Given the description of an element on the screen output the (x, y) to click on. 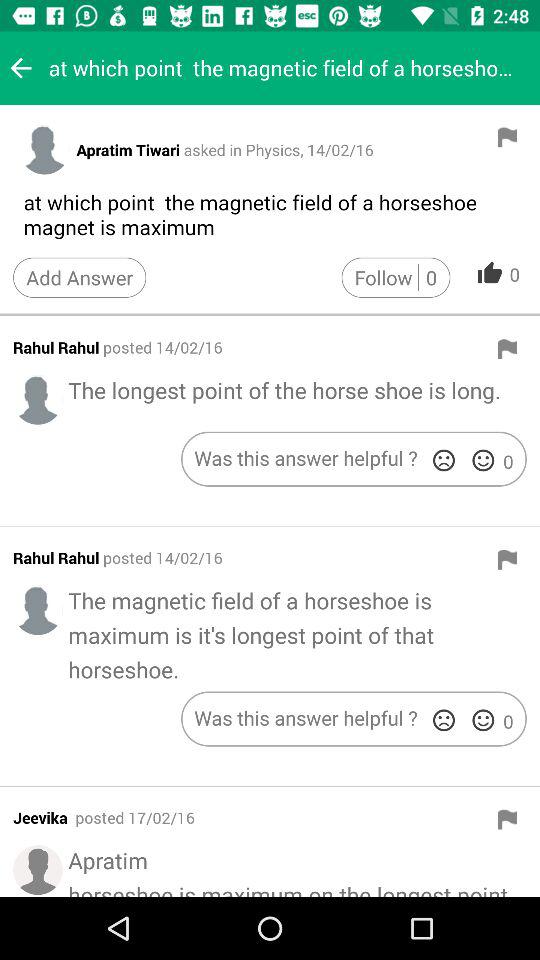
leave positive feedback (483, 720)
